Given the description of an element on the screen output the (x, y) to click on. 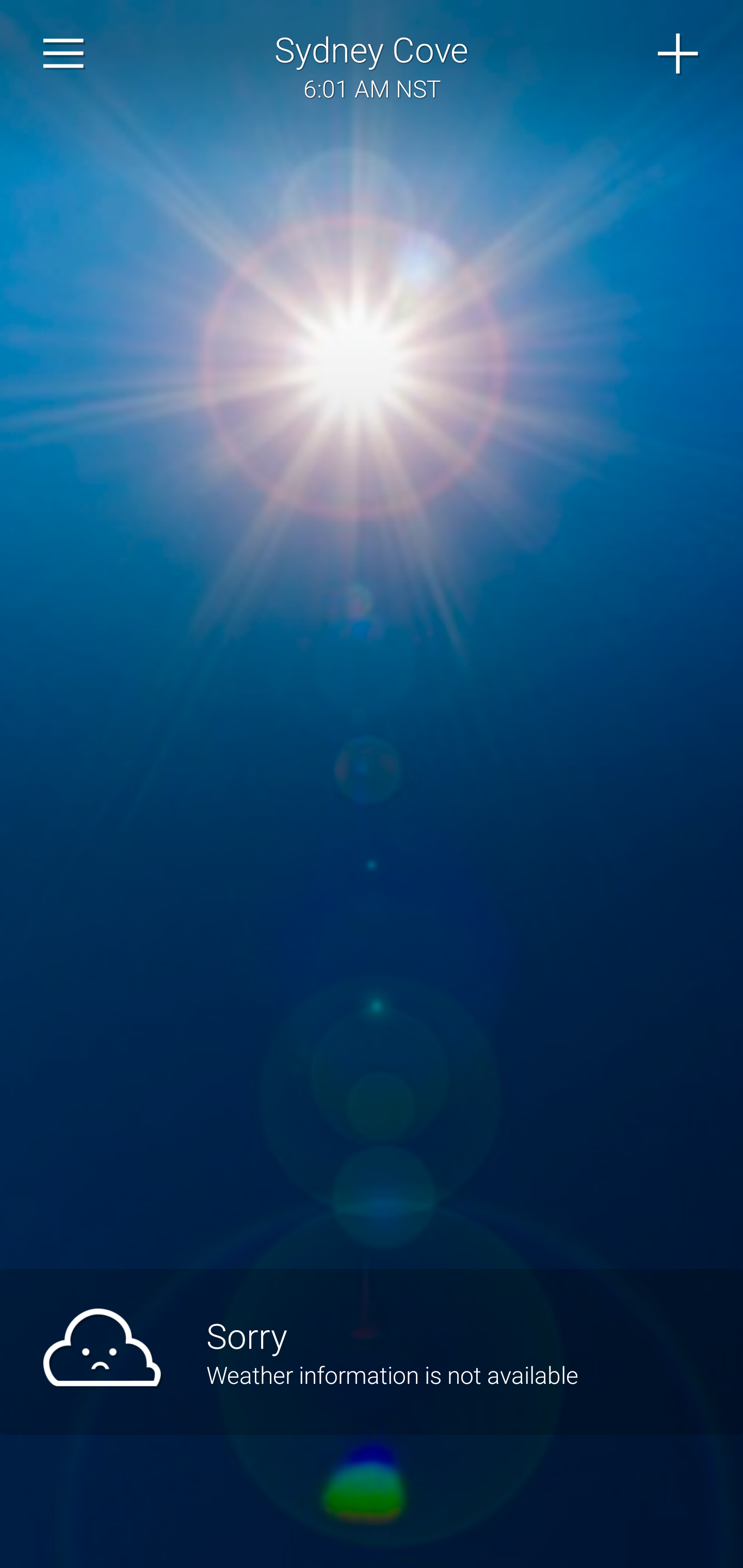
Sidebar (64, 54)
Add City (678, 53)
